Given the description of an element on the screen output the (x, y) to click on. 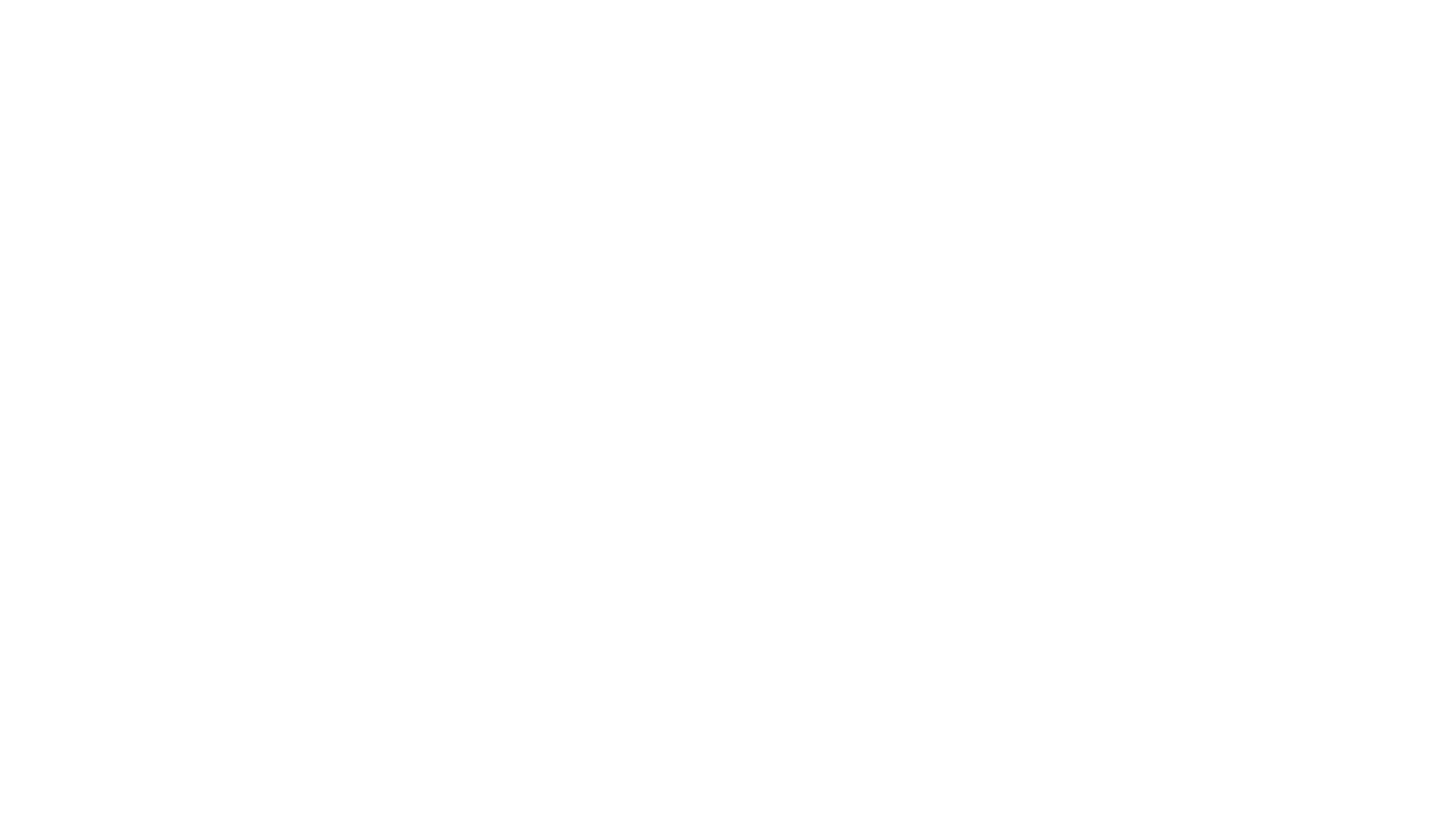
Click here to view the new site Element type: text (727, 417)
